Given the description of an element on the screen output the (x, y) to click on. 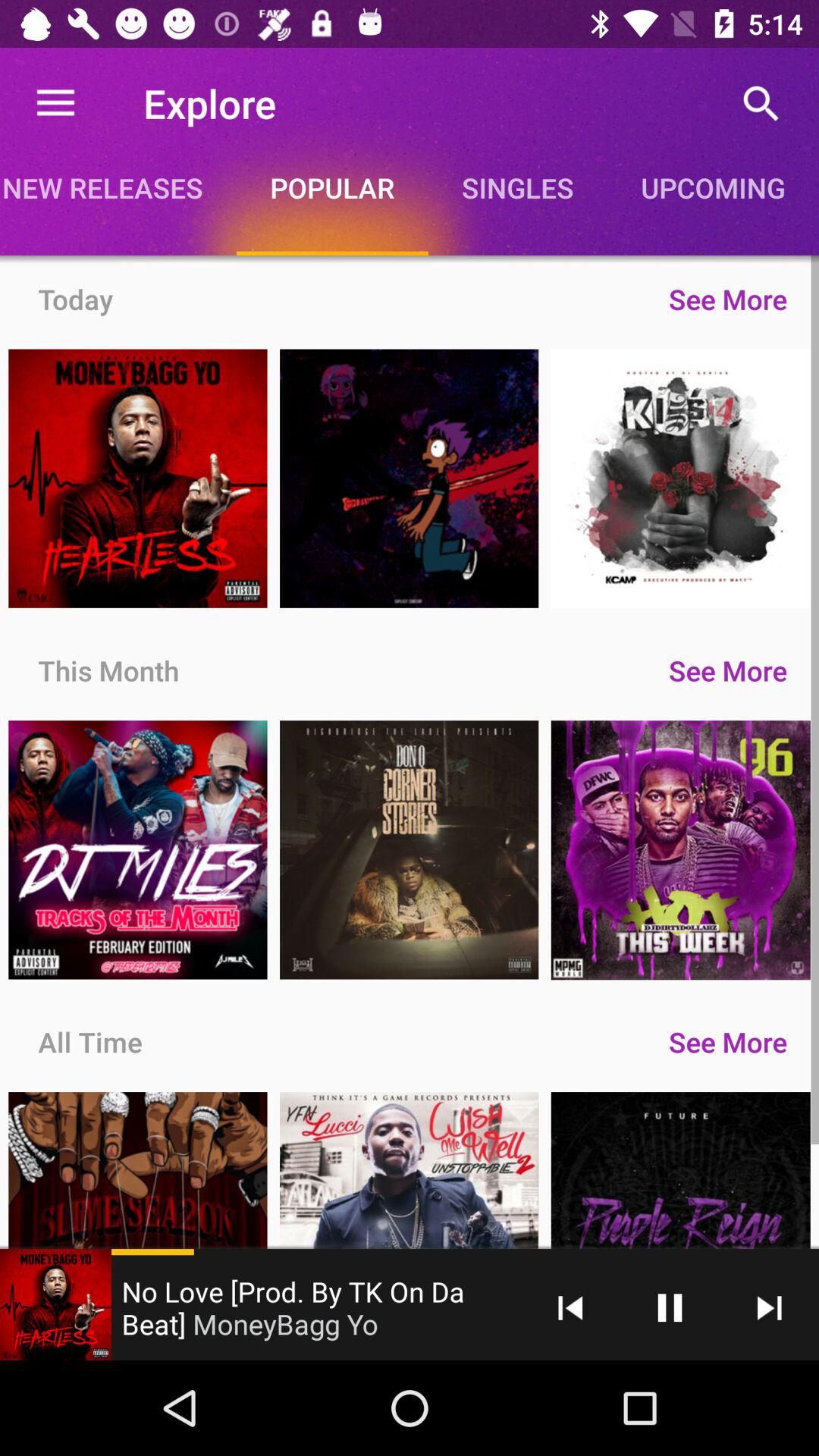
launch the item above see more (517, 187)
